Given the description of an element on the screen output the (x, y) to click on. 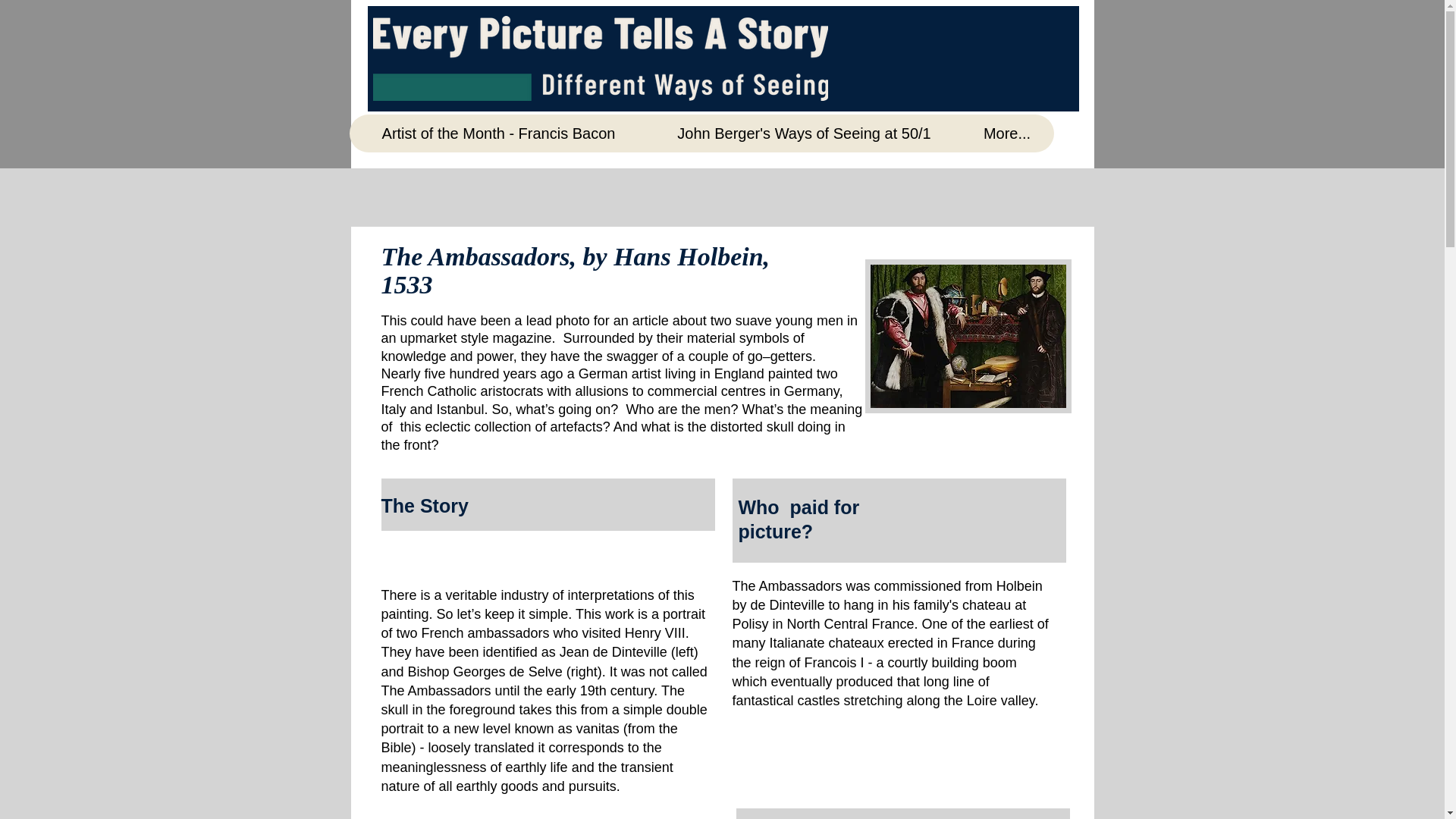
Twitter Tweet (1031, 17)
Artist of the Month - Francis Bacon (498, 133)
Facebook Like (930, 24)
